Given the description of an element on the screen output the (x, y) to click on. 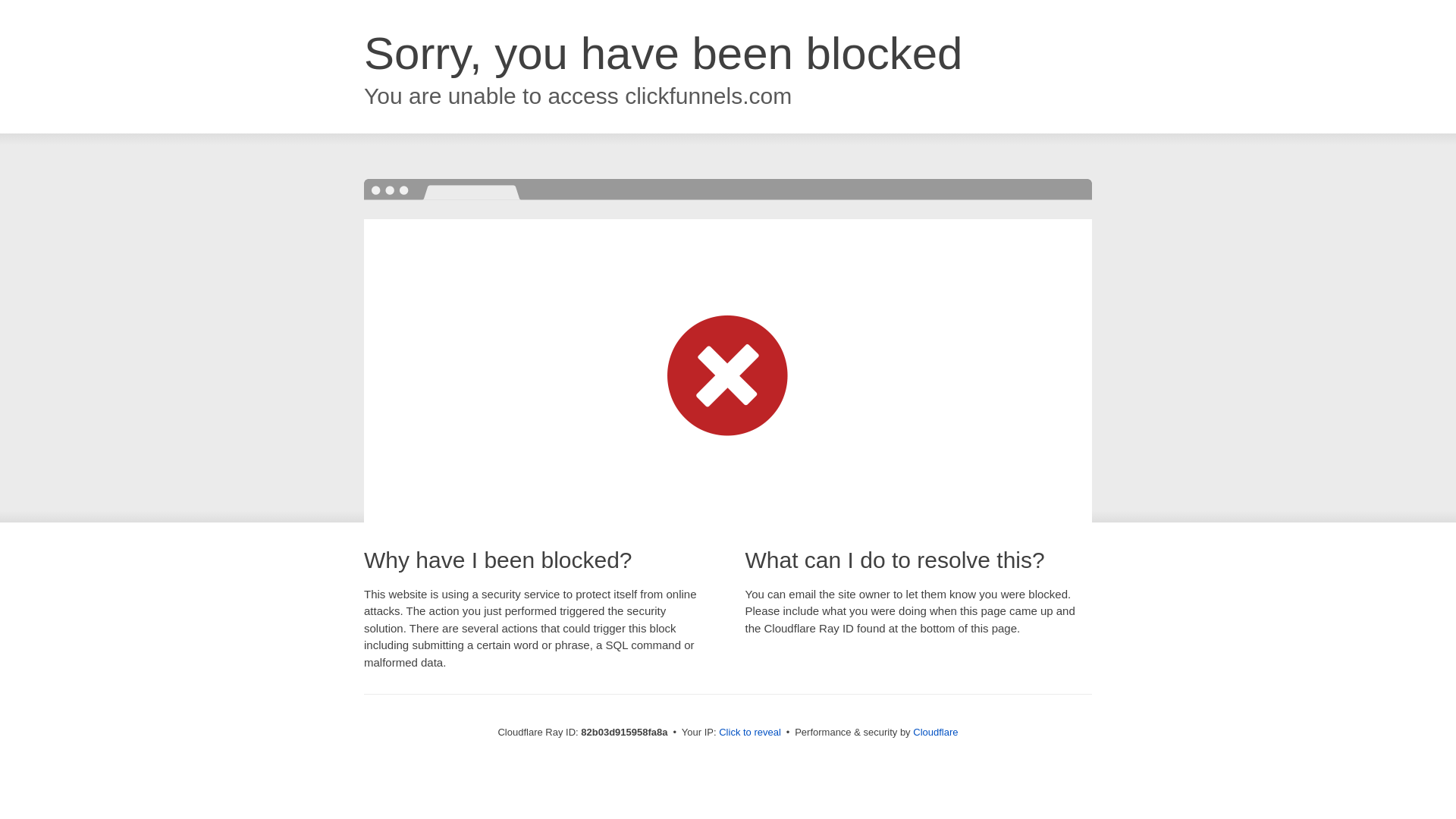
Cloudflare Element type: text (935, 731)
Click to reveal Element type: text (749, 732)
